Given the description of an element on the screen output the (x, y) to click on. 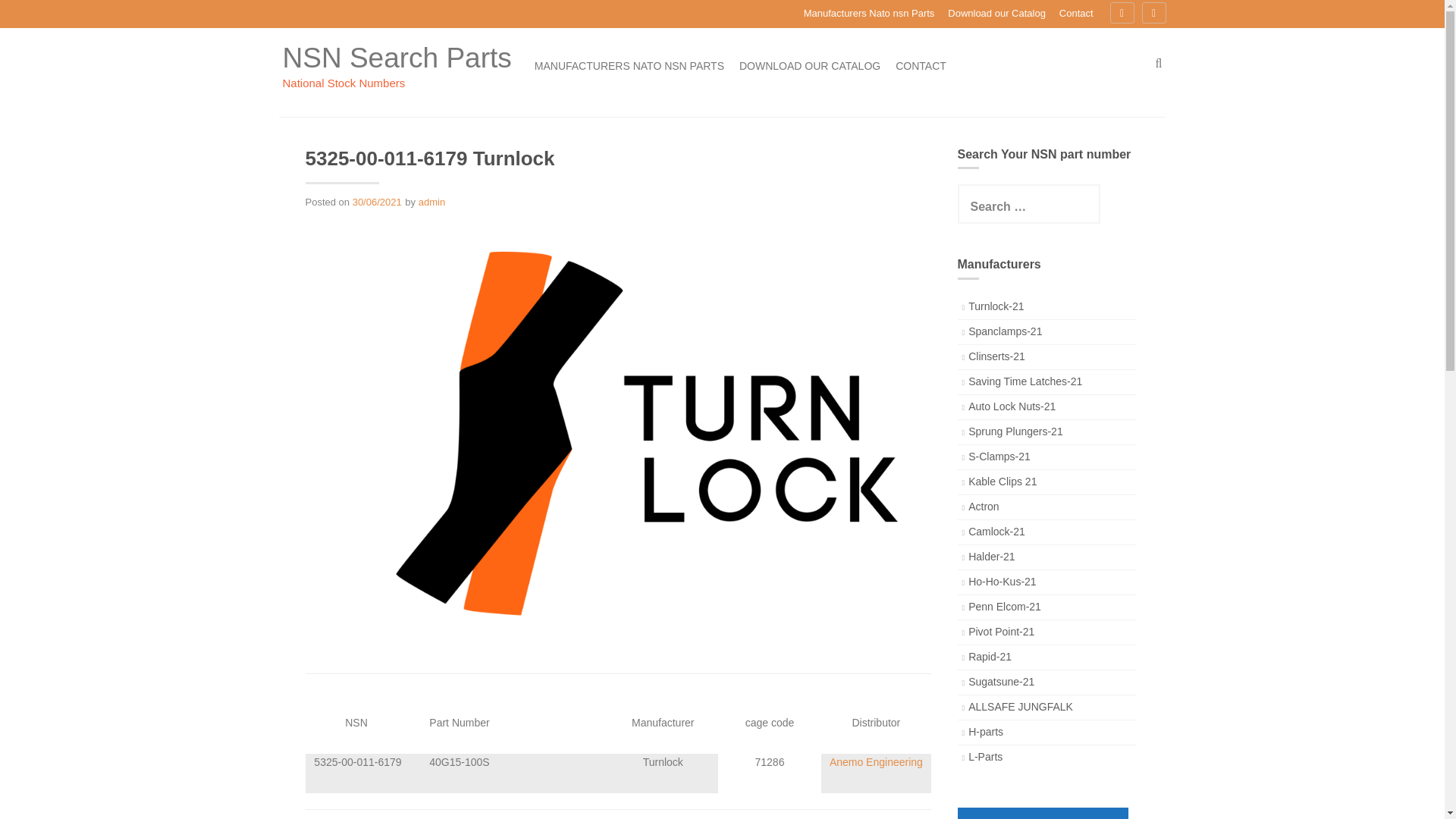
Saving Time Latches-21 (1024, 381)
L-Parts (985, 756)
Ho-Ho-Kus-21 (1001, 581)
Download catalog (1041, 813)
Spanclamps-21 (1005, 331)
Contact (1076, 13)
Sprung Plungers-21 (1015, 431)
Auto Lock Nuts-21 (1011, 406)
S-Clamps-21 (999, 456)
Actron (983, 506)
